Given the description of an element on the screen output the (x, y) to click on. 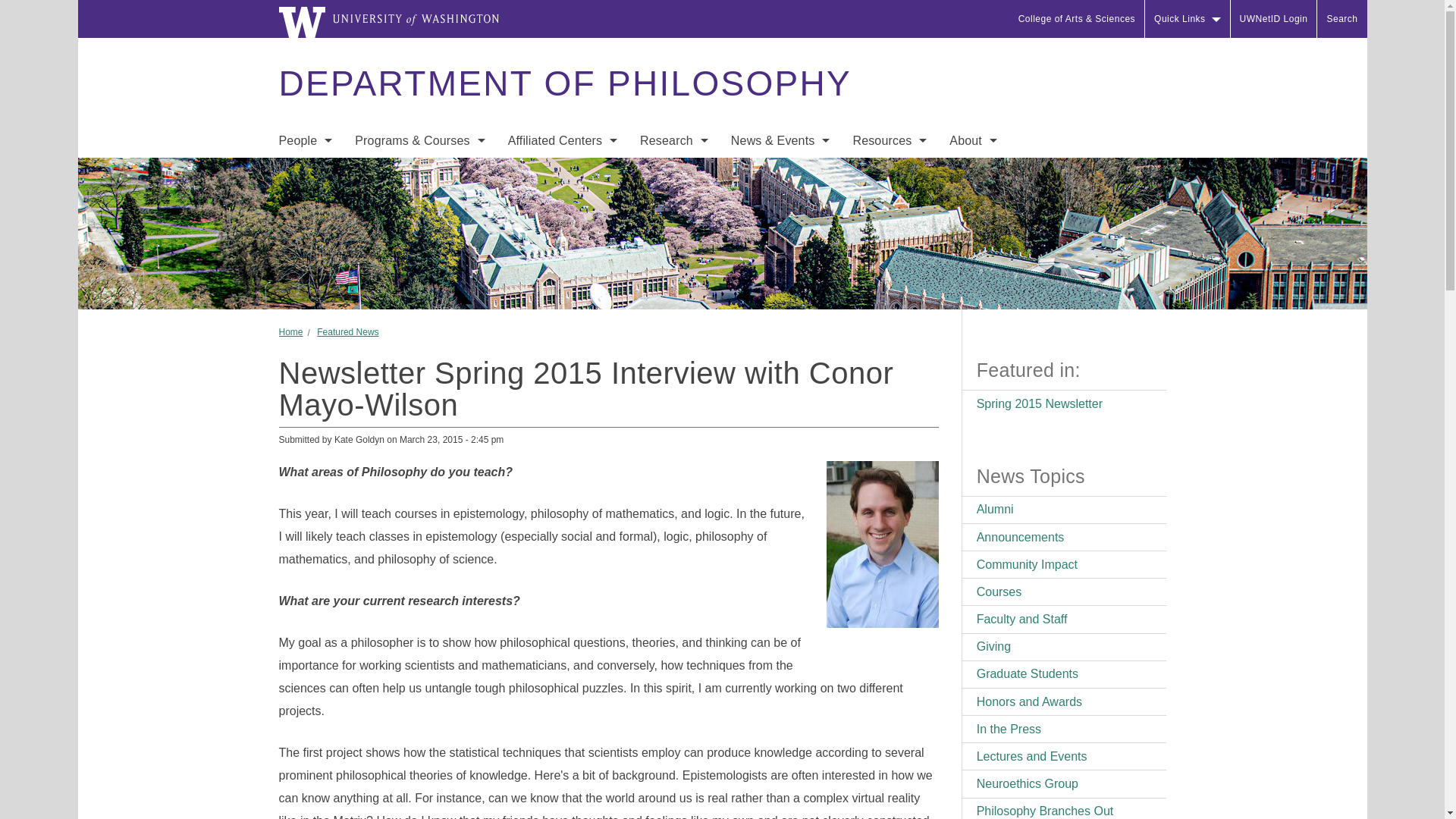
Courses (419, 233)
Faculty (304, 173)
Search (1342, 18)
UWNetID Login (1273, 18)
People (304, 140)
Graduate (419, 203)
Undergraduate (419, 173)
DEPARTMENT OF PHILOSOPHY (564, 83)
Alumni (304, 294)
